Given the description of an element on the screen output the (x, y) to click on. 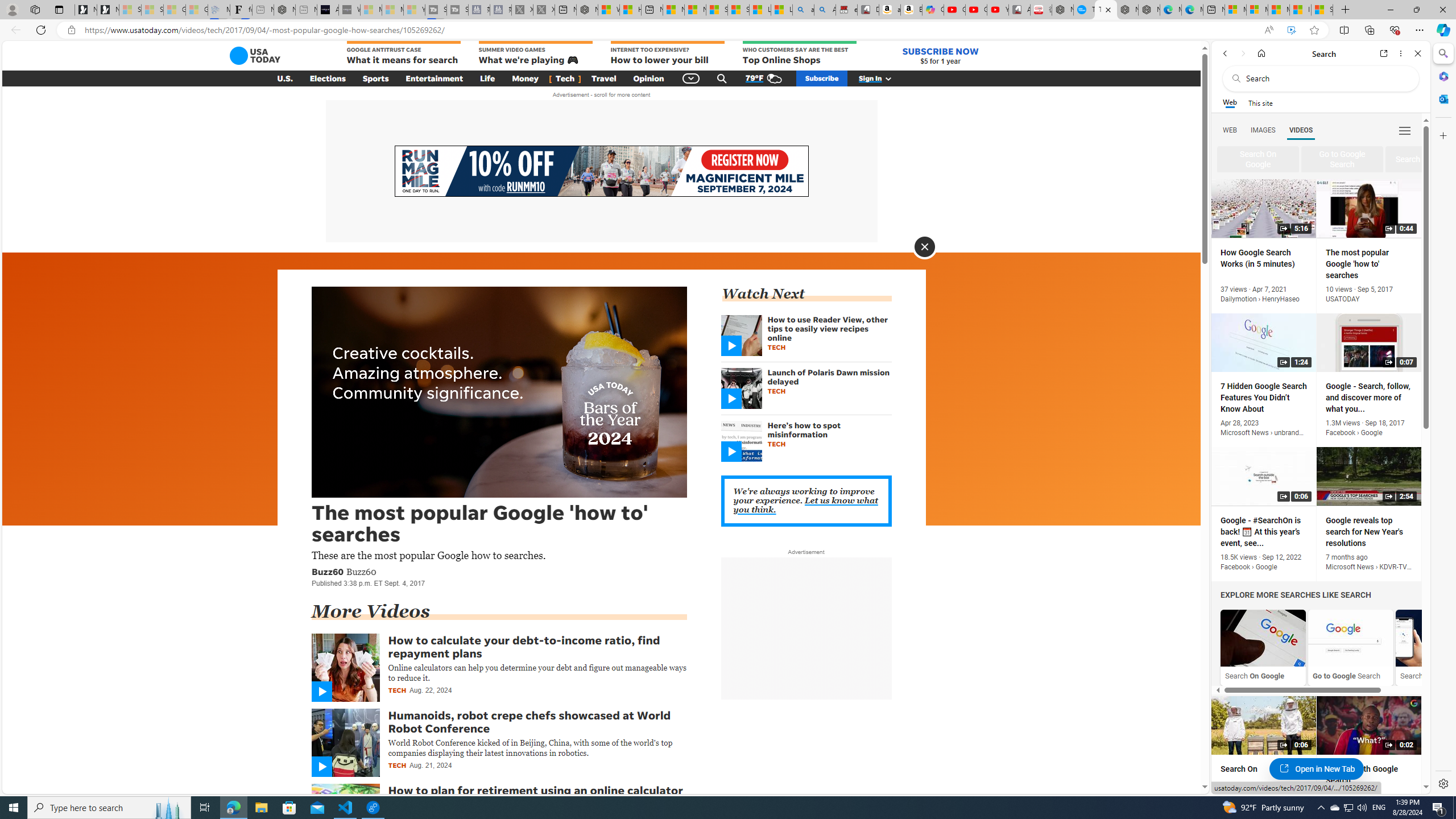
GOOGLE ANTITRUST CASE What it means for search (403, 53)
Copilot (933, 9)
What's the best AI voice generator? - voice.ai - Sleeping (349, 9)
amazon.in/dp/B0CX59H5W7/?tag=gsmcom05-21 (889, 9)
[ Tech ] (564, 78)
